Given the description of an element on the screen output the (x, y) to click on. 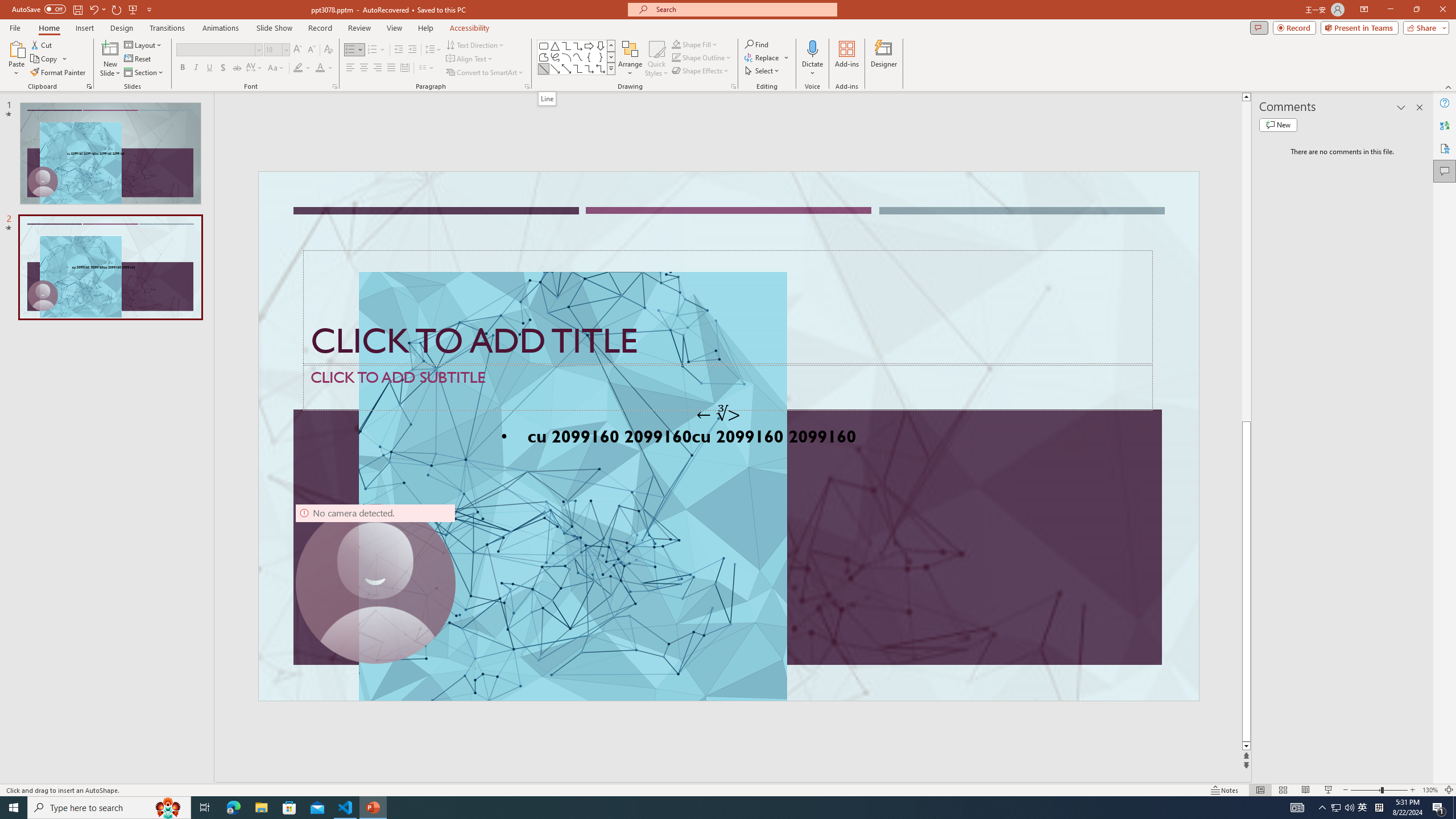
Slide Sorter (1282, 790)
Slide (110, 267)
Font Color (324, 67)
Line Arrow: Double (566, 68)
File Tab (15, 27)
Text Direction (476, 44)
Convert to SmartArt (485, 72)
Minimize (1390, 9)
Reset (138, 58)
Paragraph... (526, 85)
Layout (143, 44)
Decrease Font Size (310, 49)
Text Highlight Color (302, 67)
Slide Show (273, 28)
